Given the description of an element on the screen output the (x, y) to click on. 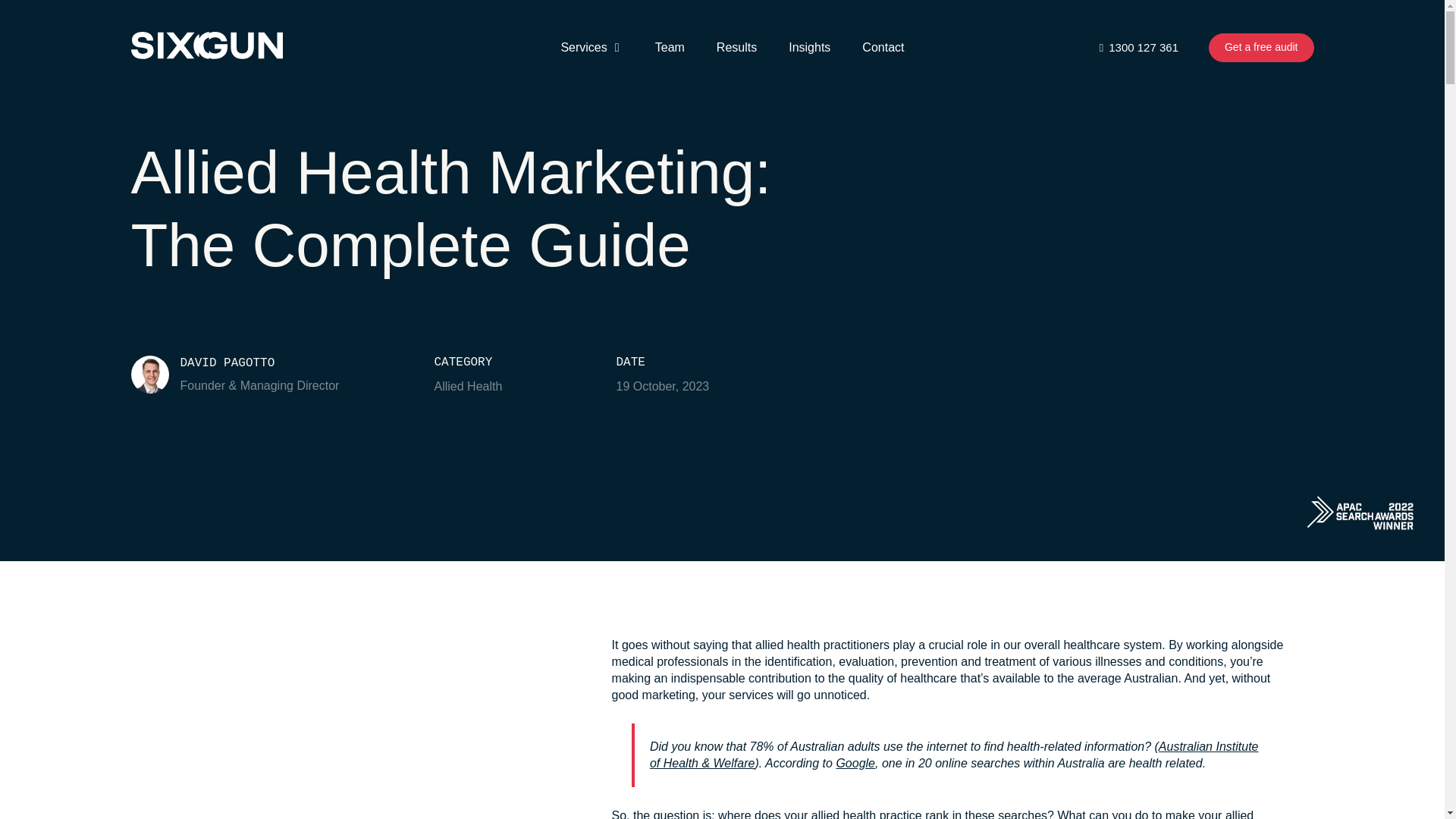
Results (736, 47)
Contact (882, 47)
Team (669, 47)
1300 127 361 (1139, 47)
Insights (809, 47)
